Given the description of an element on the screen output the (x, y) to click on. 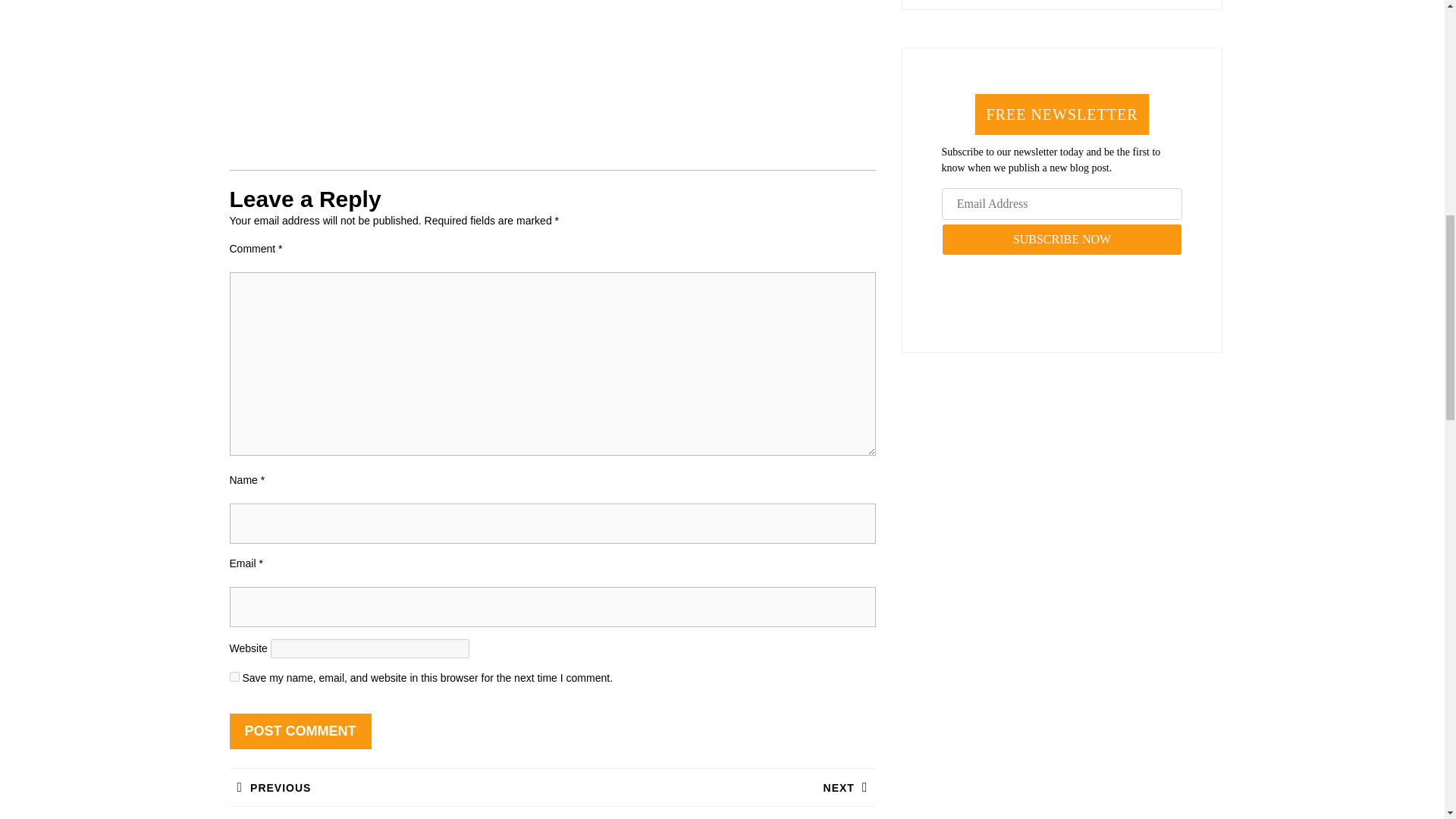
Post Comment (299, 731)
SUBSCRIBE NOW (713, 787)
yes (1062, 239)
Post Comment (233, 676)
